Given the description of an element on the screen output the (x, y) to click on. 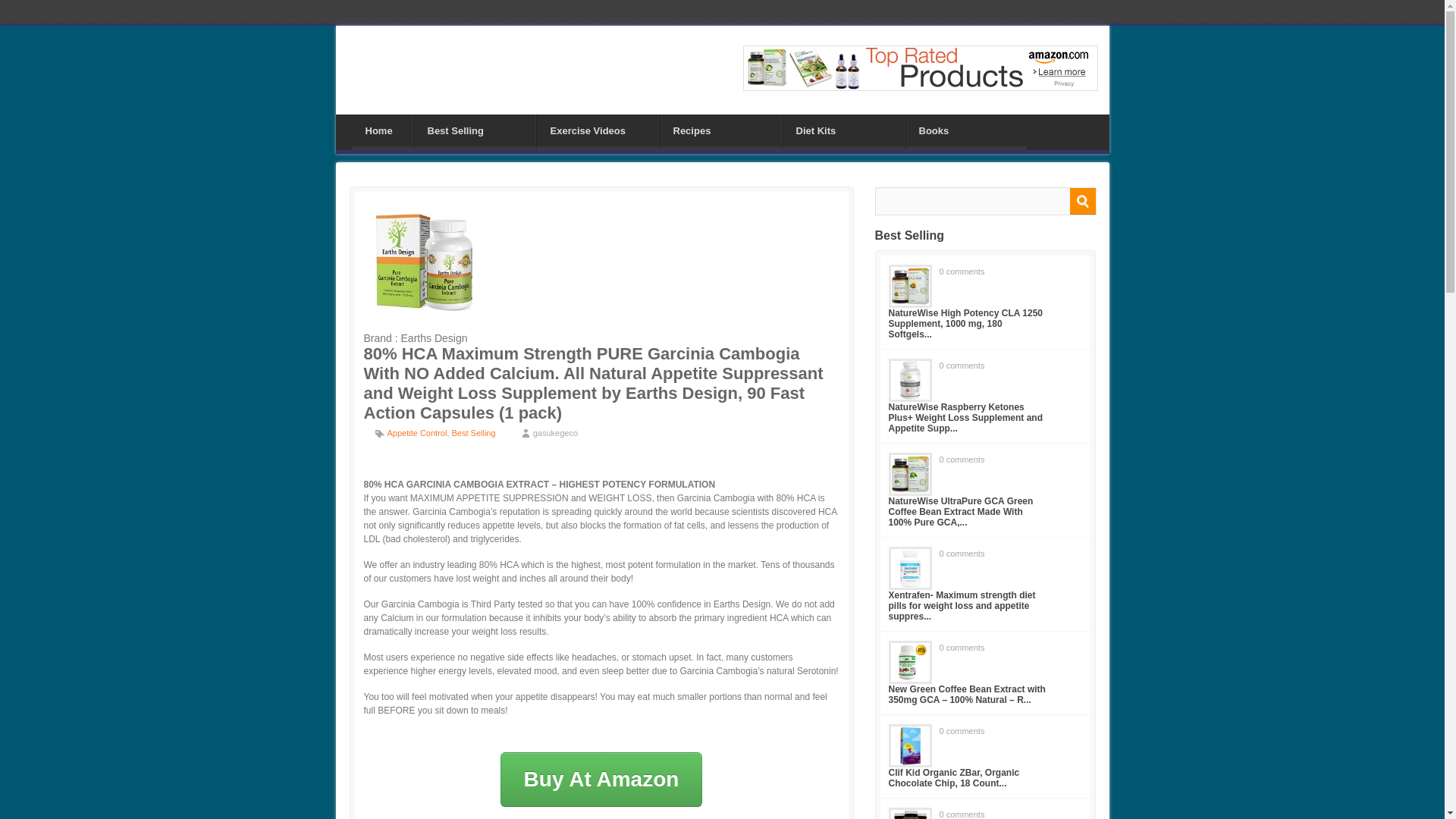
Best Selling (473, 432)
Exercise Videos (597, 130)
Home (382, 130)
Appetite Control (416, 432)
Books (965, 130)
Buy At Amazon (601, 779)
Search (1081, 201)
Diet Kits (843, 130)
Best Selling (474, 130)
0 comments (961, 365)
Search (1081, 201)
0 comments (961, 459)
0 comments (961, 271)
